Given the description of an element on the screen output the (x, y) to click on. 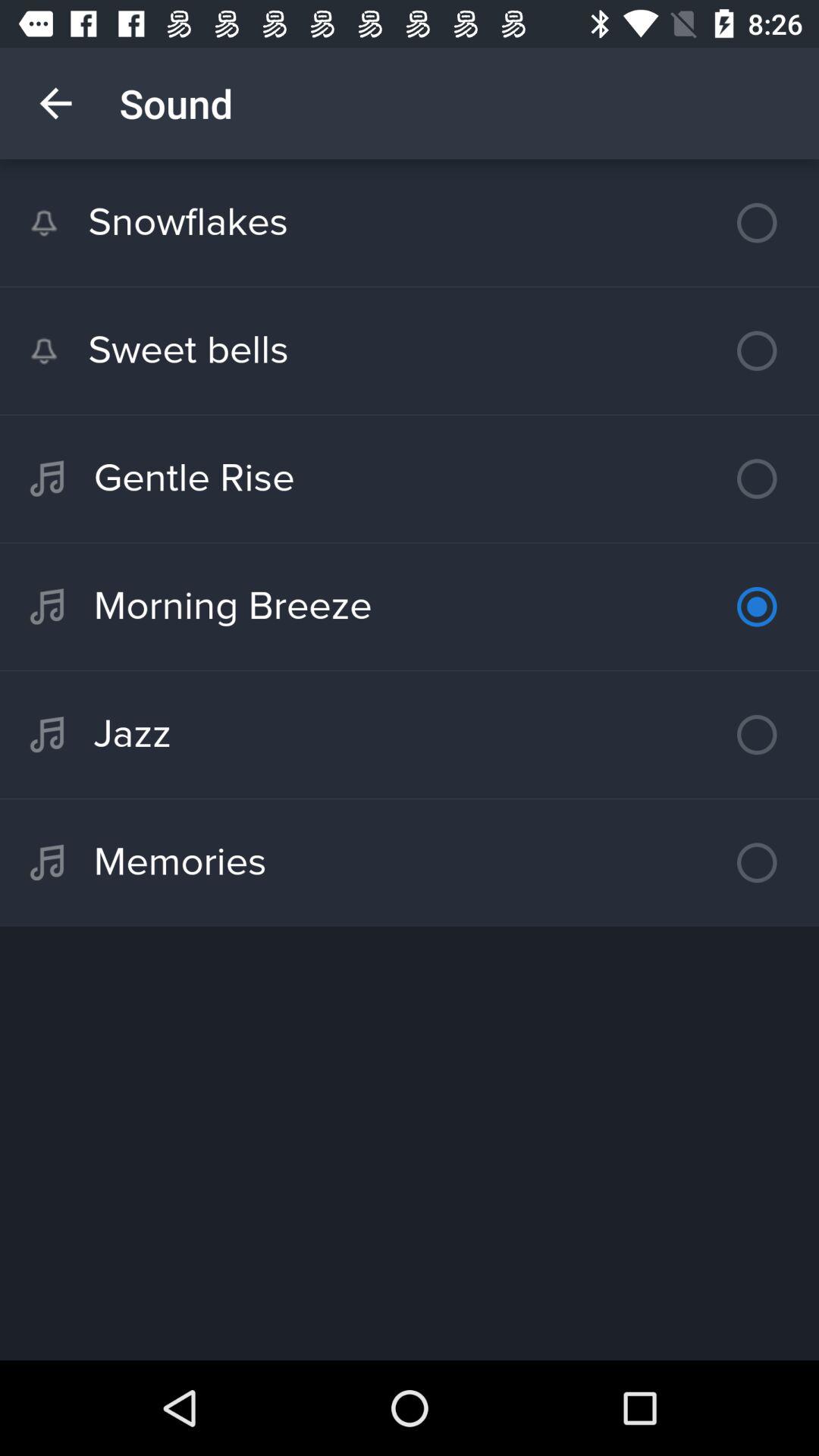
turn on icon below gentle rise item (409, 606)
